Given the description of an element on the screen output the (x, y) to click on. 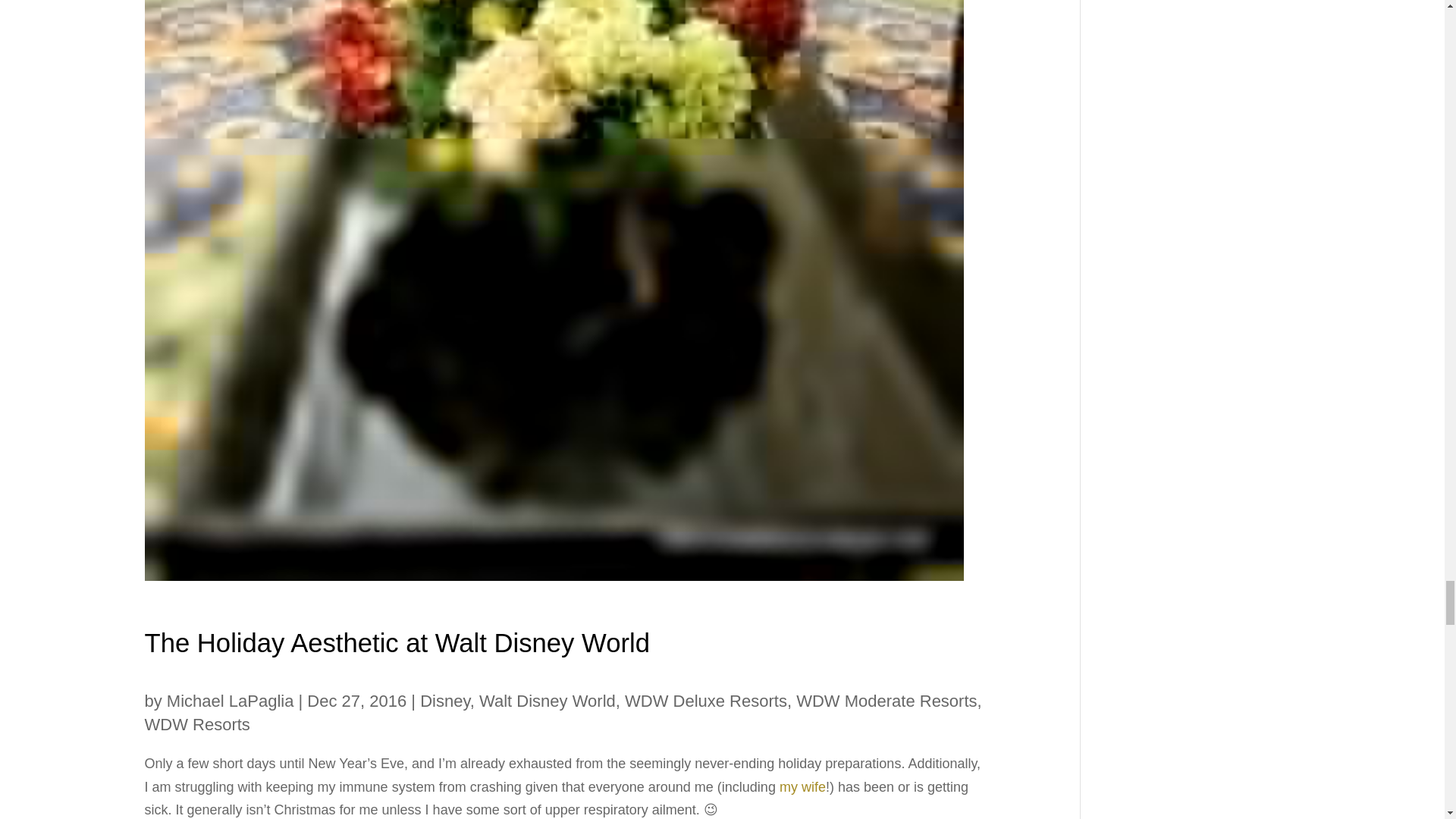
Posts by Michael LaPaglia (230, 700)
